Given the description of an element on the screen output the (x, y) to click on. 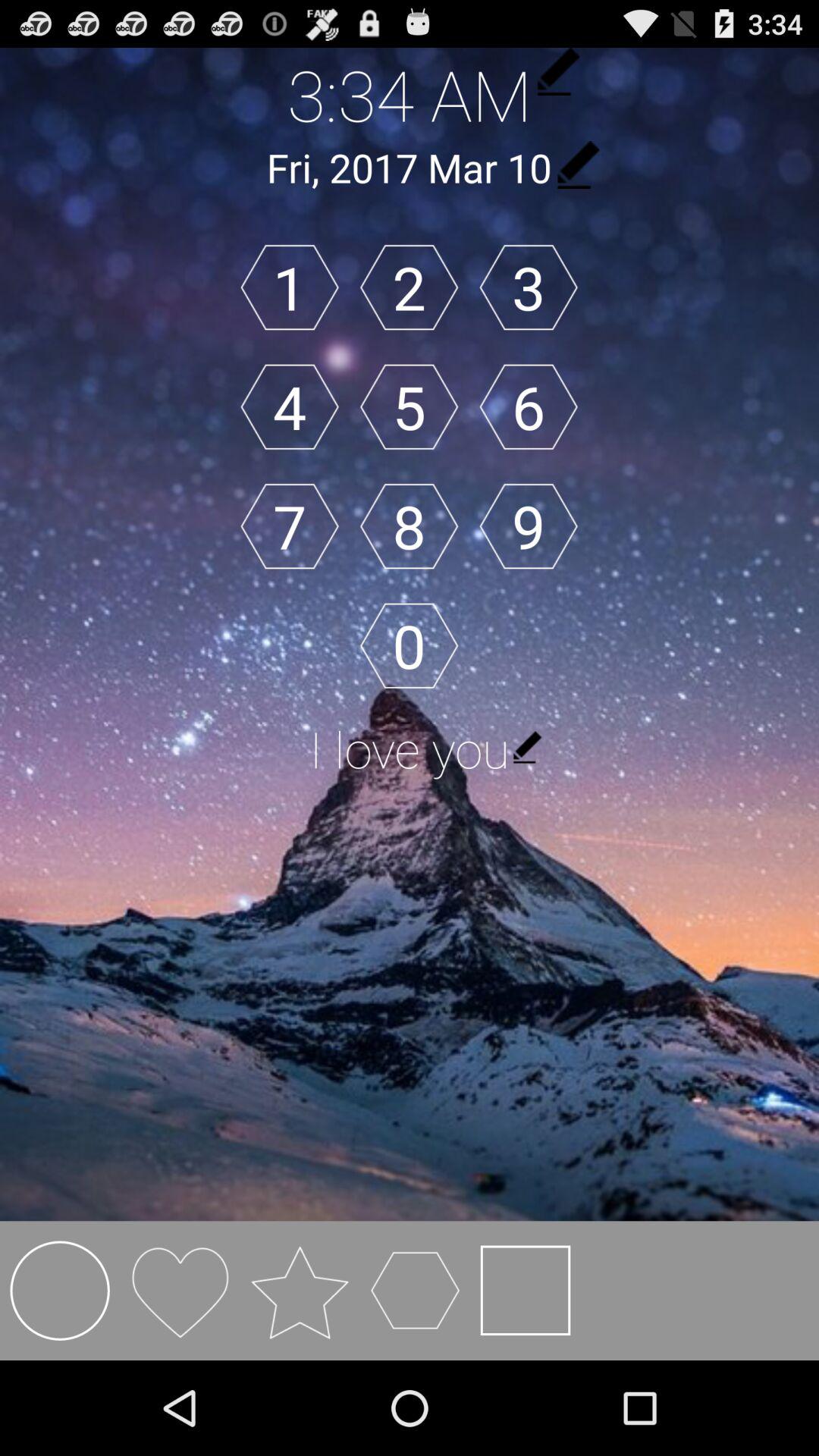
click the app above i love you app (528, 526)
